Given the description of an element on the screen output the (x, y) to click on. 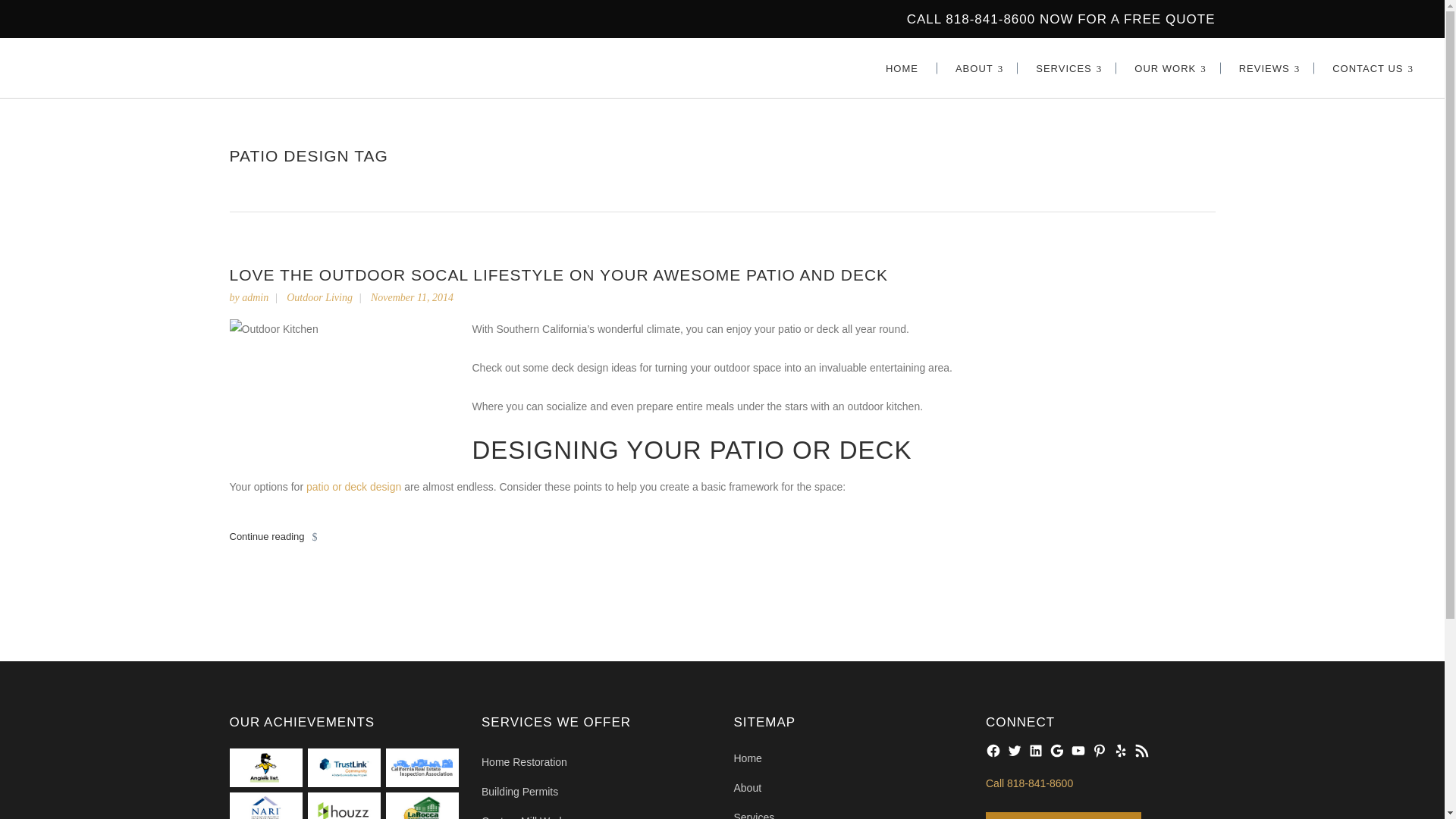
OUR WORK (1168, 67)
CONTACT US (1370, 67)
REVIEWS (1267, 67)
SERVICES (1066, 67)
HOME (902, 67)
CALL 818-841-8600 NOW FOR A FREE QUOTE (1061, 19)
ABOUT (977, 67)
